Given the description of an element on the screen output the (x, y) to click on. 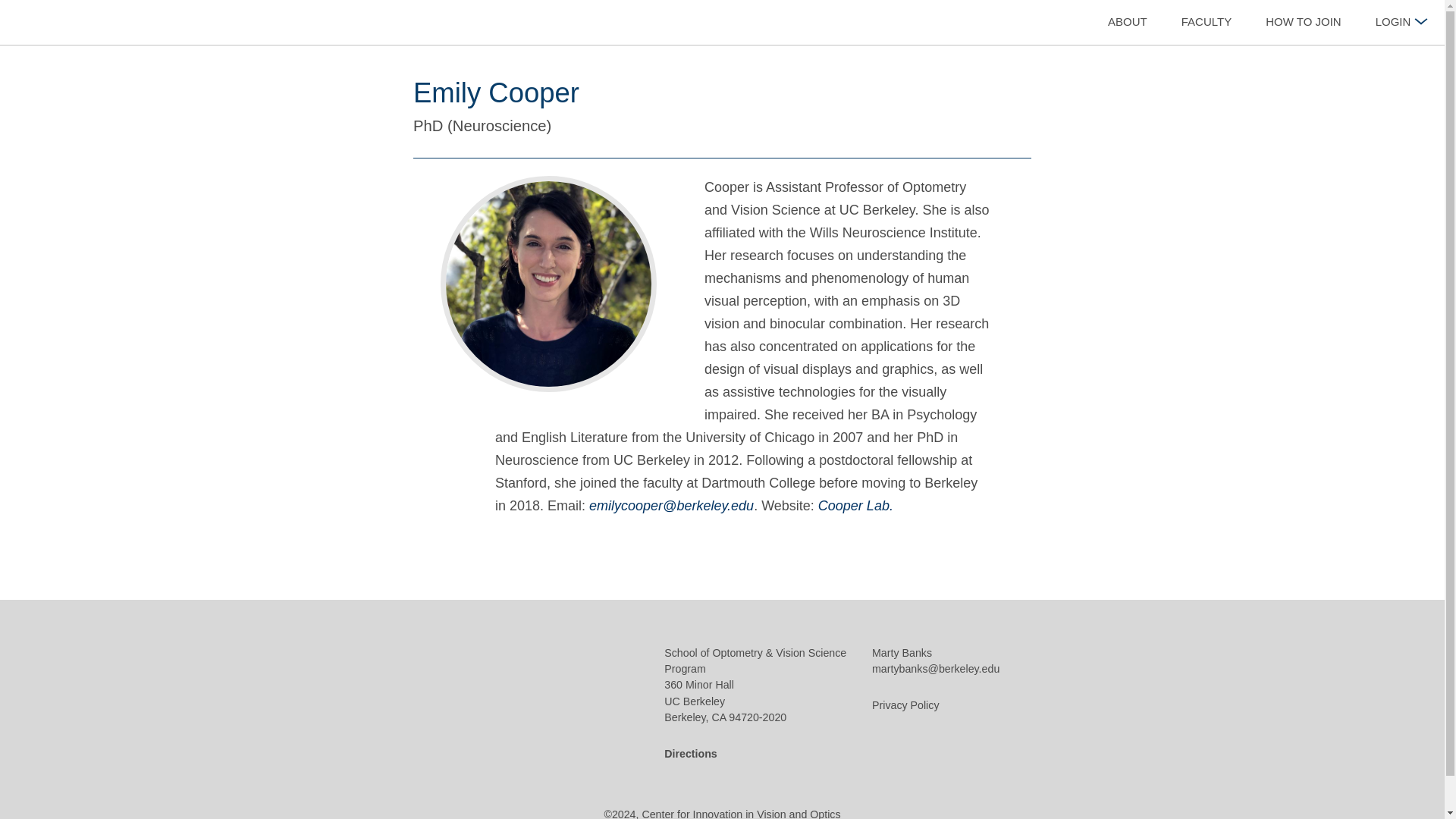
CIVO CENTER FOR INNOVATION IN VISION AND OPTICS (551, 709)
Cooper Lab. (855, 506)
CIVO CENTER FOR INNOVATION IN VISION AND OPTICS (124, 23)
ABOUT (1127, 22)
FACULTY (1205, 22)
link to map (690, 754)
CIVO CENTER FOR INNOVATION IN VISION AND OPTICS (551, 705)
HOW TO JOIN (1303, 22)
CIVO CENTER FOR INNOVATION IN VISION AND OPTICS (124, 23)
Directions (690, 754)
